Given the description of an element on the screen output the (x, y) to click on. 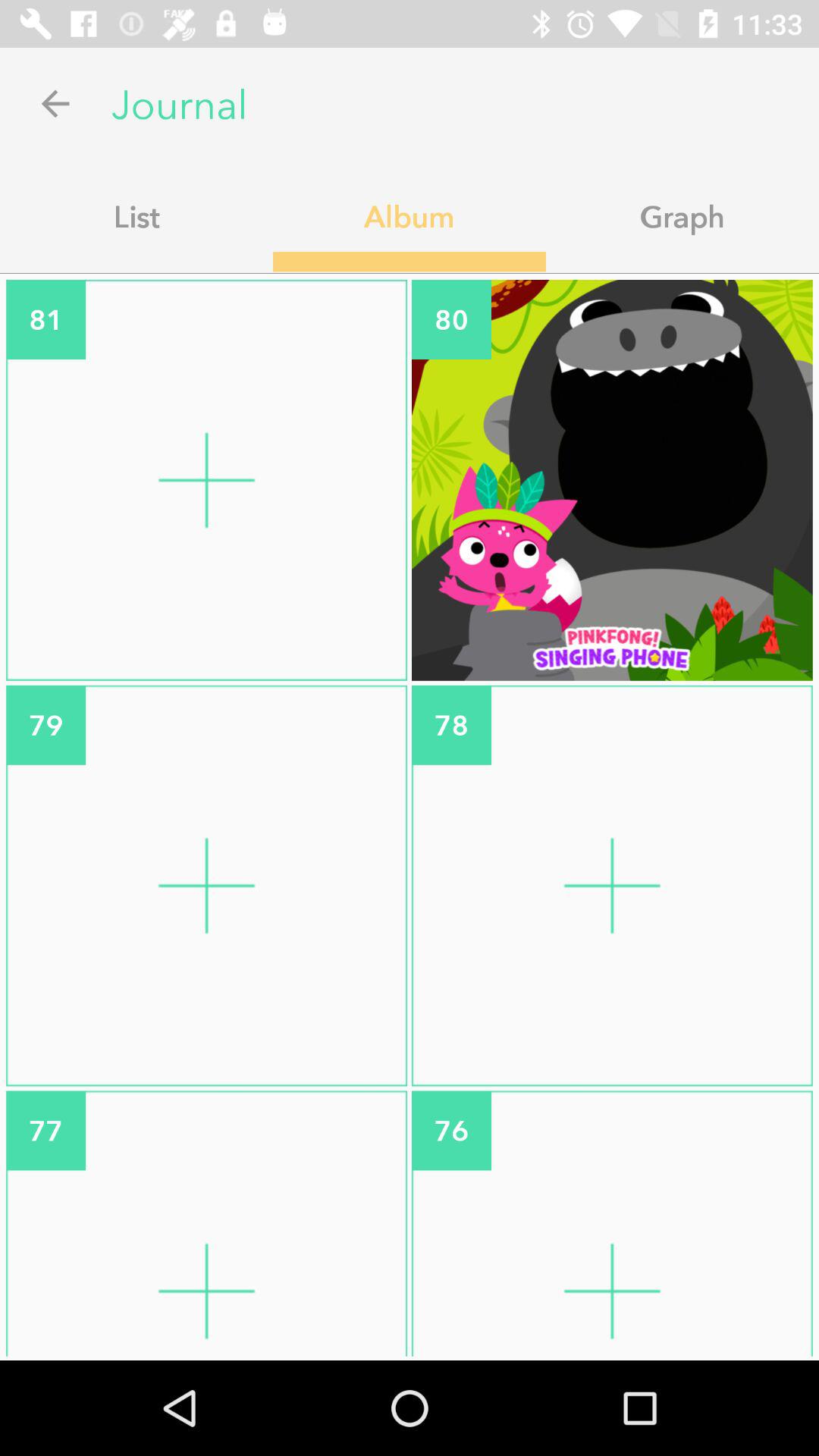
go back (55, 103)
